Given the description of an element on the screen output the (x, y) to click on. 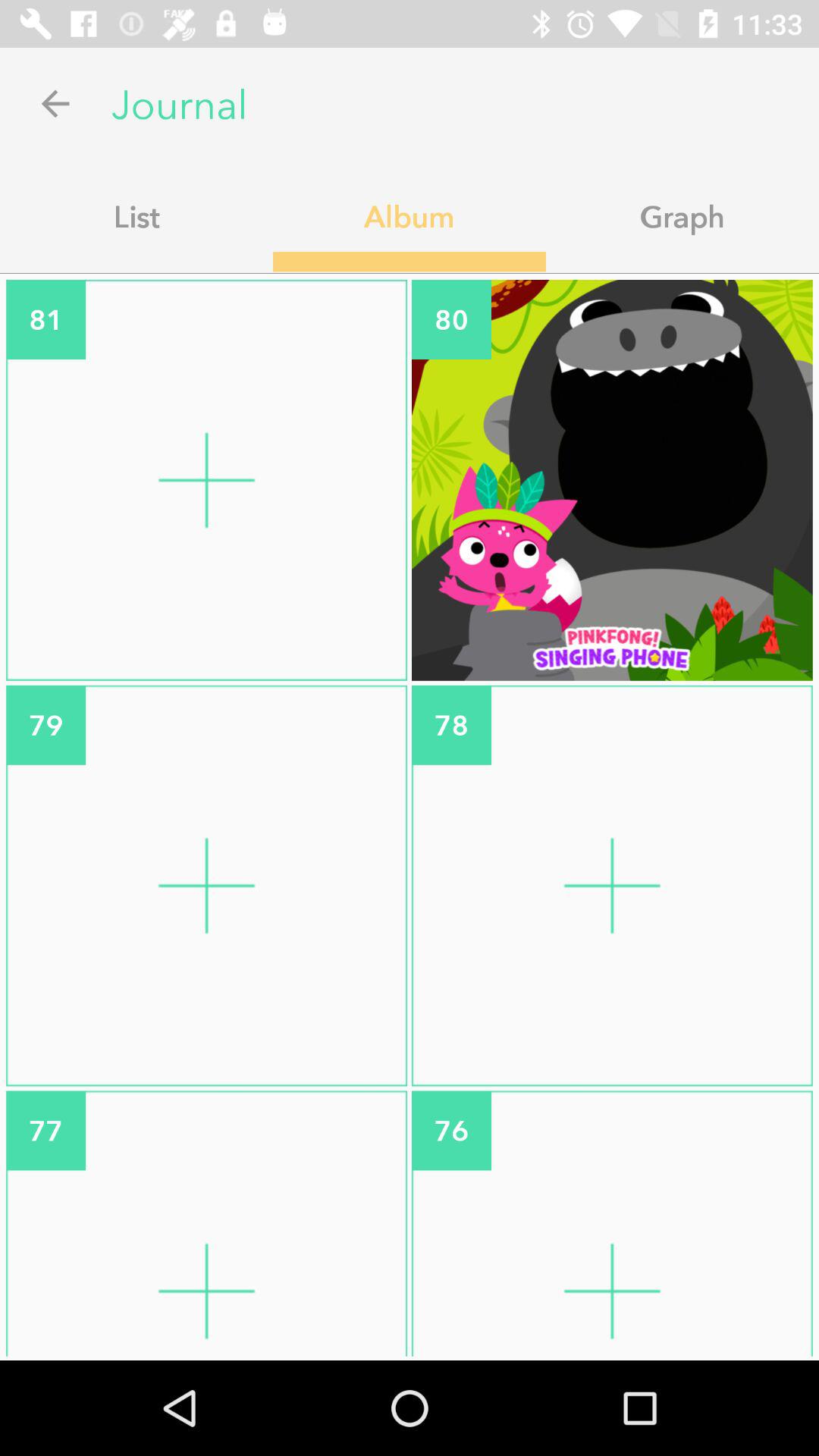
go back (55, 103)
